Given the description of an element on the screen output the (x, y) to click on. 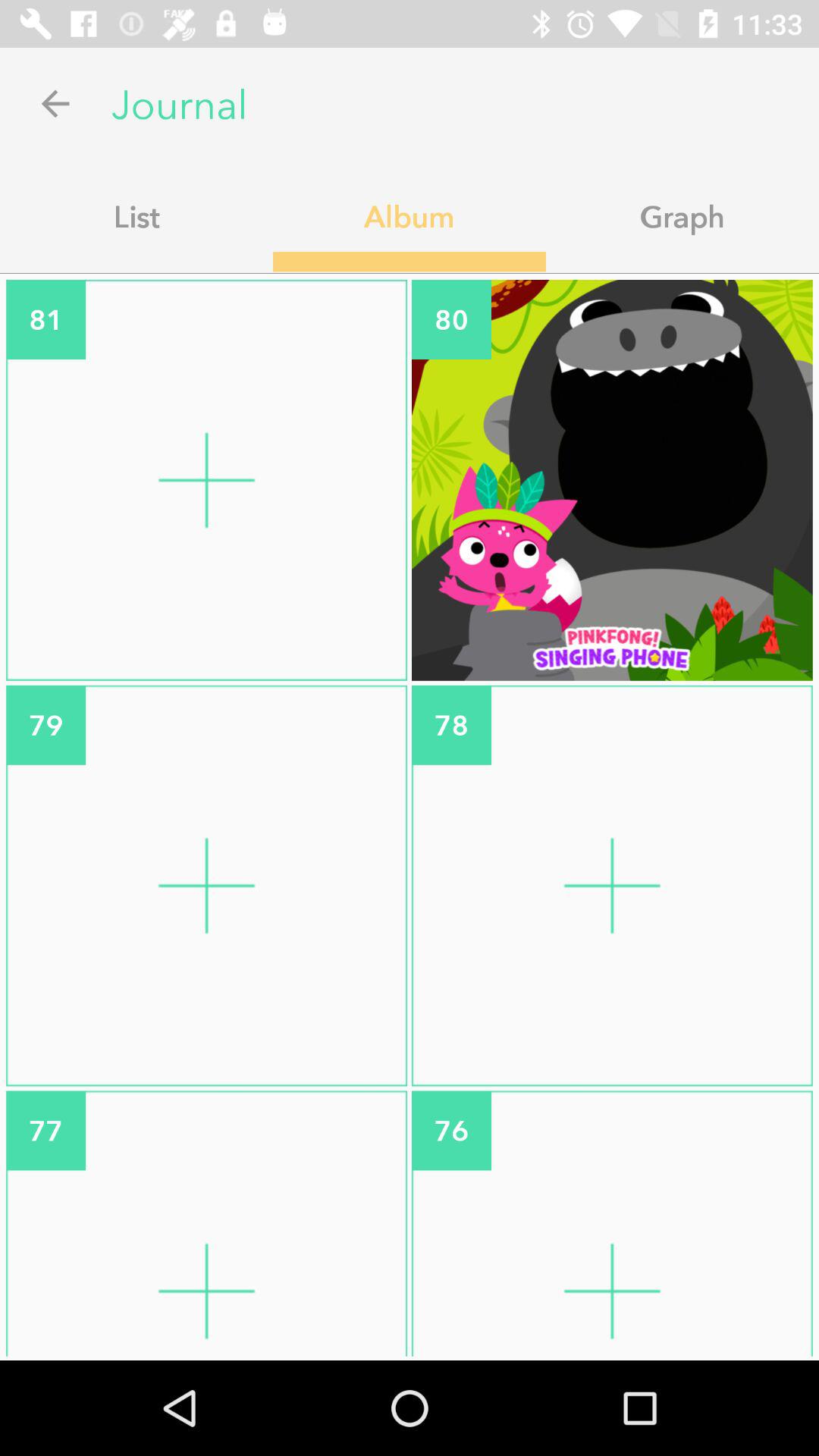
go back (55, 103)
